Given the description of an element on the screen output the (x, y) to click on. 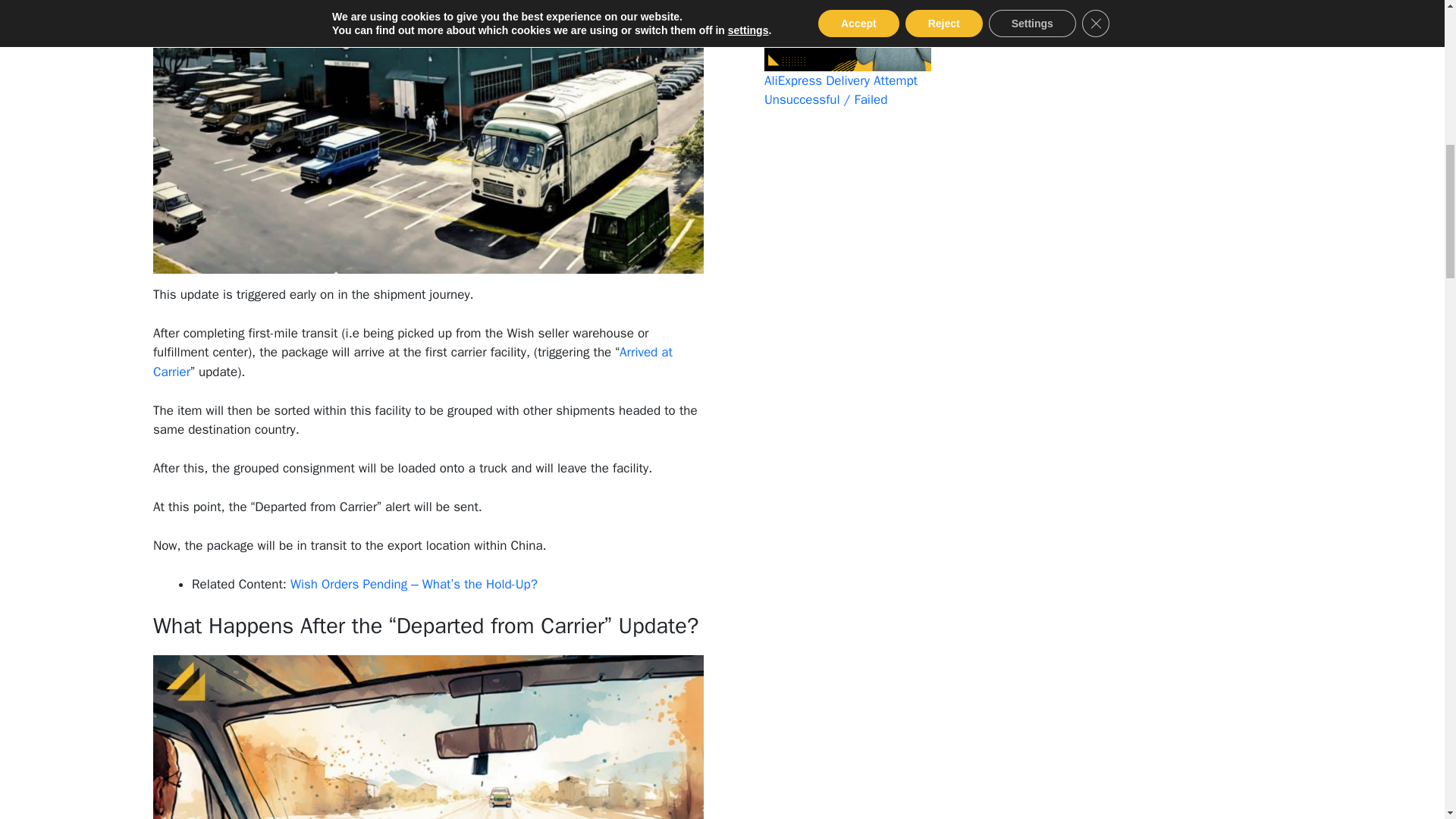
Arrived at Carrier (412, 361)
